Given the description of an element on the screen output the (x, y) to click on. 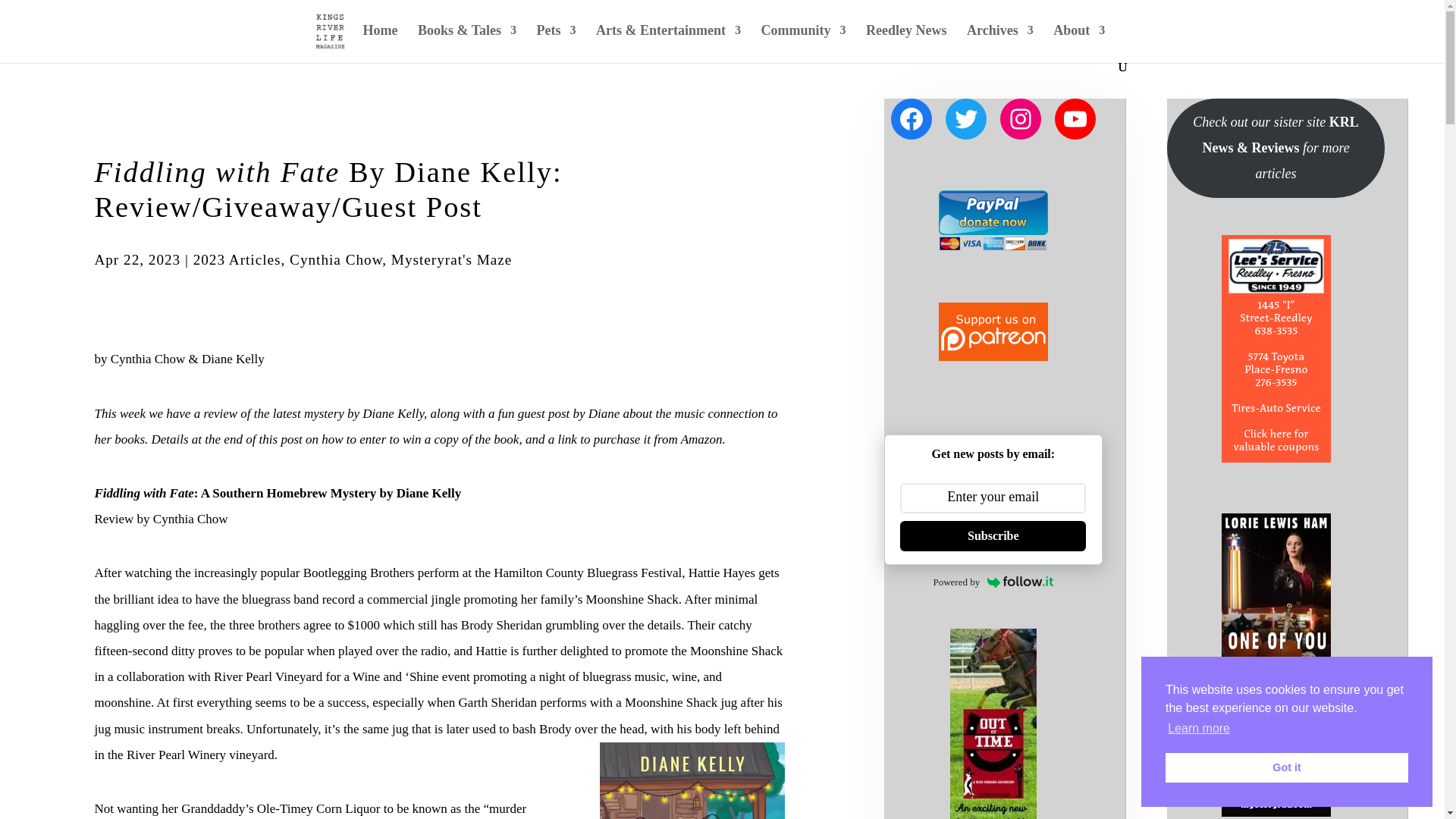
Archives (999, 42)
Pets (556, 42)
Community (802, 42)
Reedley News (906, 42)
Home (379, 42)
